Given the description of an element on the screen output the (x, y) to click on. 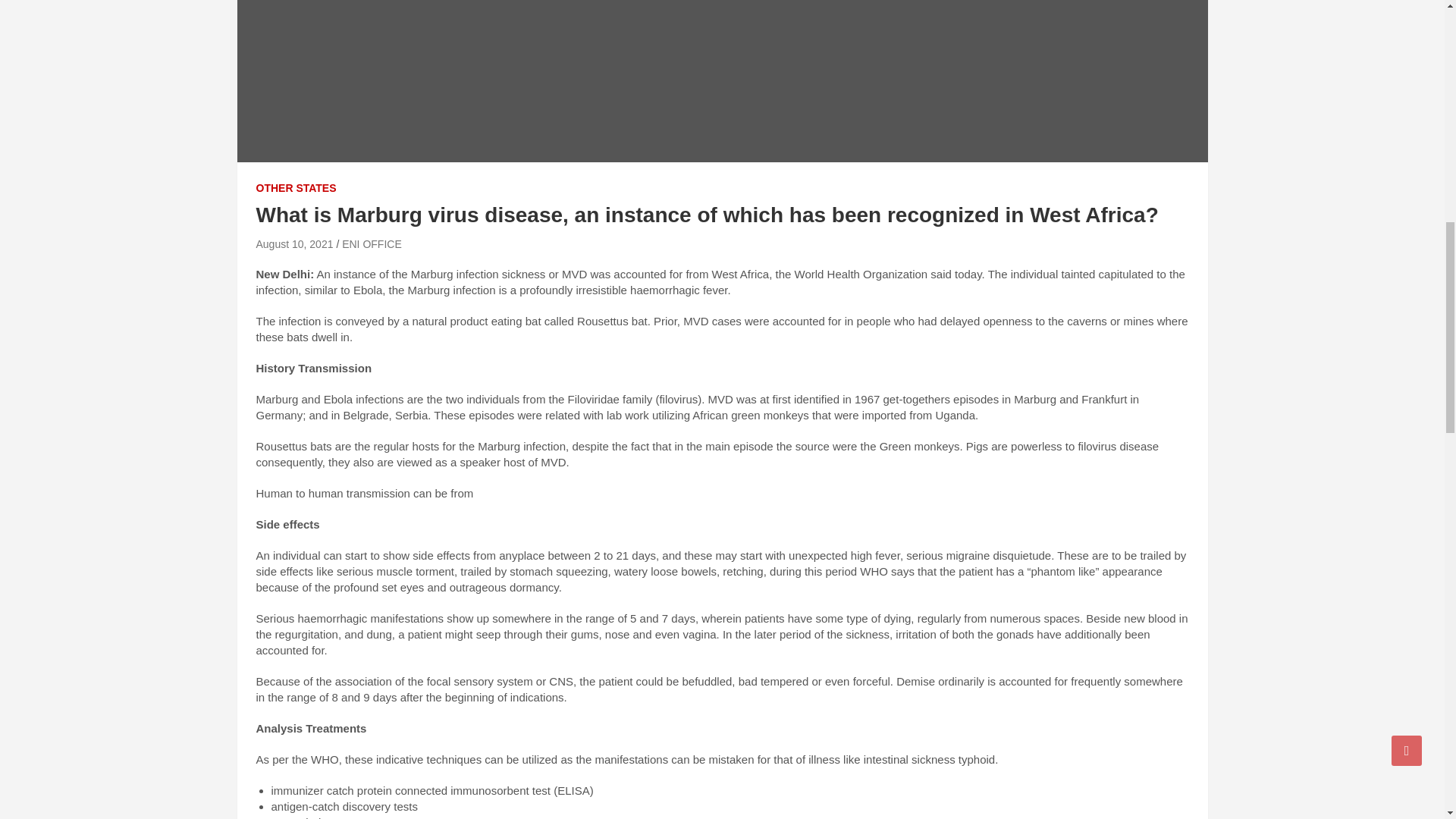
ENI OFFICE (371, 244)
OTHER STATES (296, 188)
August 10, 2021 (294, 244)
